Given the description of an element on the screen output the (x, y) to click on. 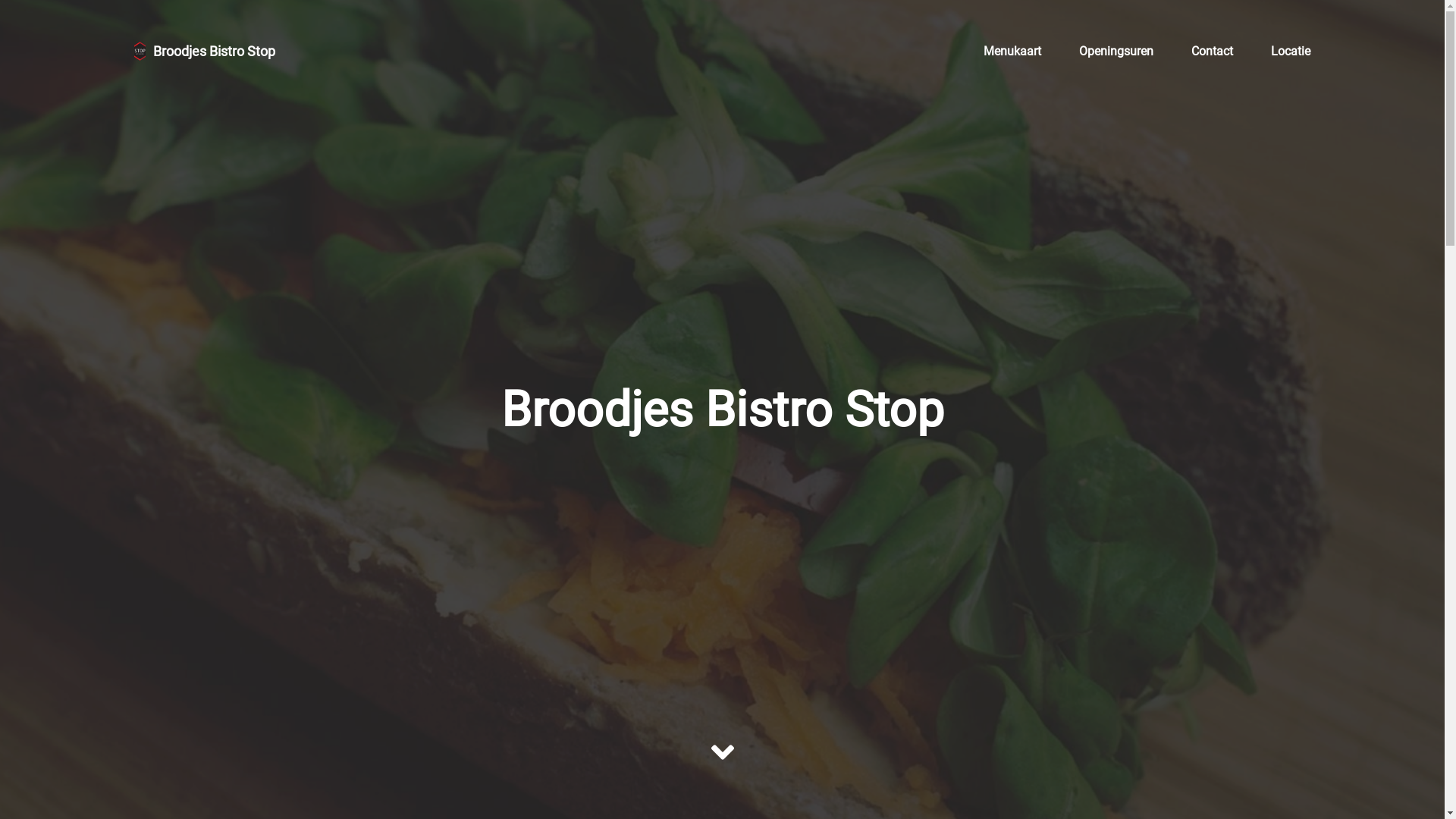
Broodjes Bistro Stop Element type: text (204, 50)
Contact Element type: text (1212, 50)
Openingsuren Element type: text (1116, 50)
Locatie Element type: text (1290, 50)
Menukaart Element type: text (1012, 50)
